Given the description of an element on the screen output the (x, y) to click on. 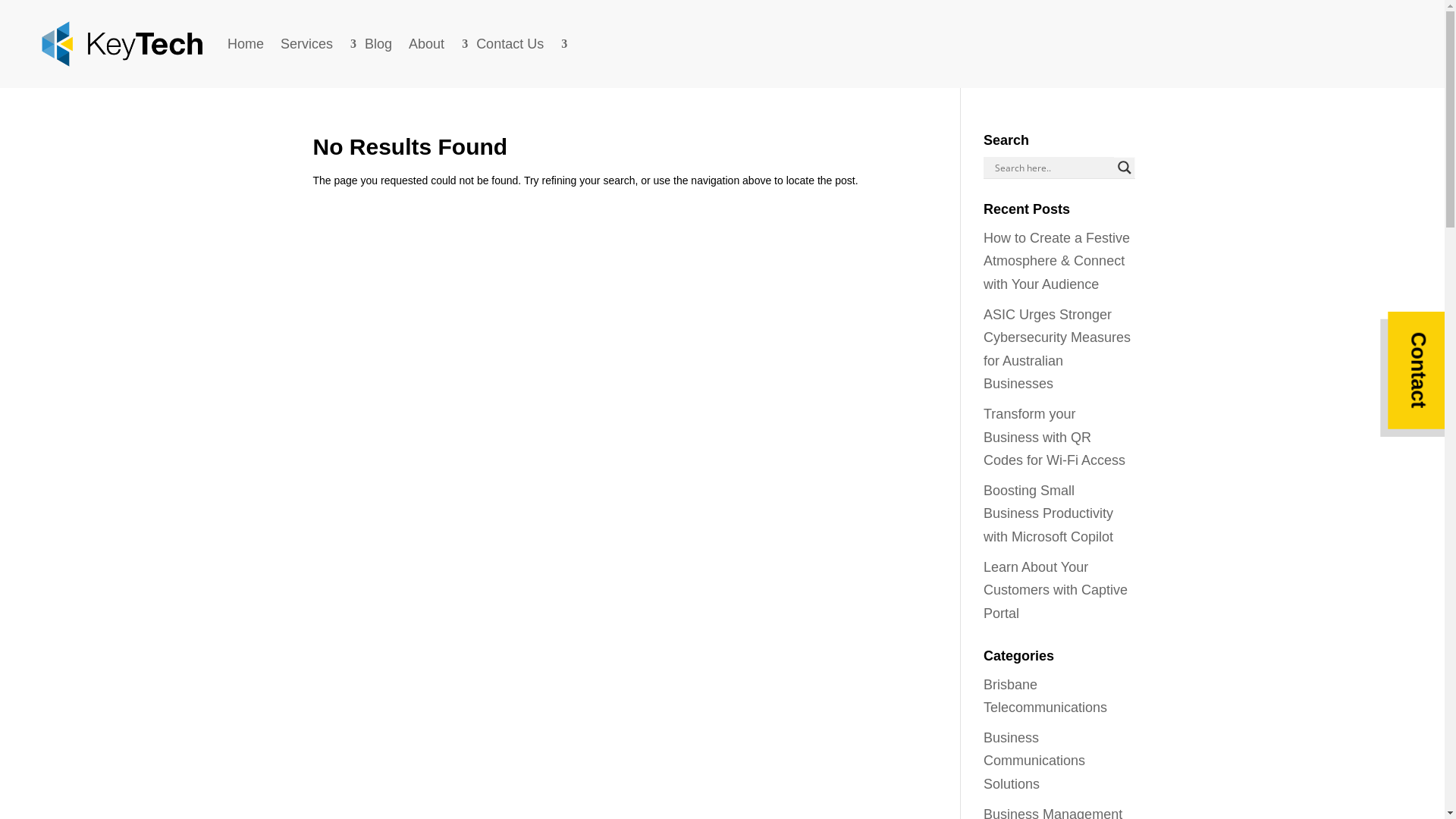
Learn About Your Customers with Captive Portal Element type: text (1055, 590)
Boosting Small Business Productivity with Microsoft Copilot Element type: text (1048, 513)
Blog Element type: text (378, 43)
Services Element type: text (314, 43)
Business Communications Solutions Element type: text (1034, 760)
Contact Us Element type: text (517, 43)
Home Element type: text (245, 43)
Transform your Business with QR Codes for Wi-Fi Access Element type: text (1054, 436)
Brisbane Telecommunications Element type: text (1045, 696)
About Element type: text (433, 43)
